Given the description of an element on the screen output the (x, y) to click on. 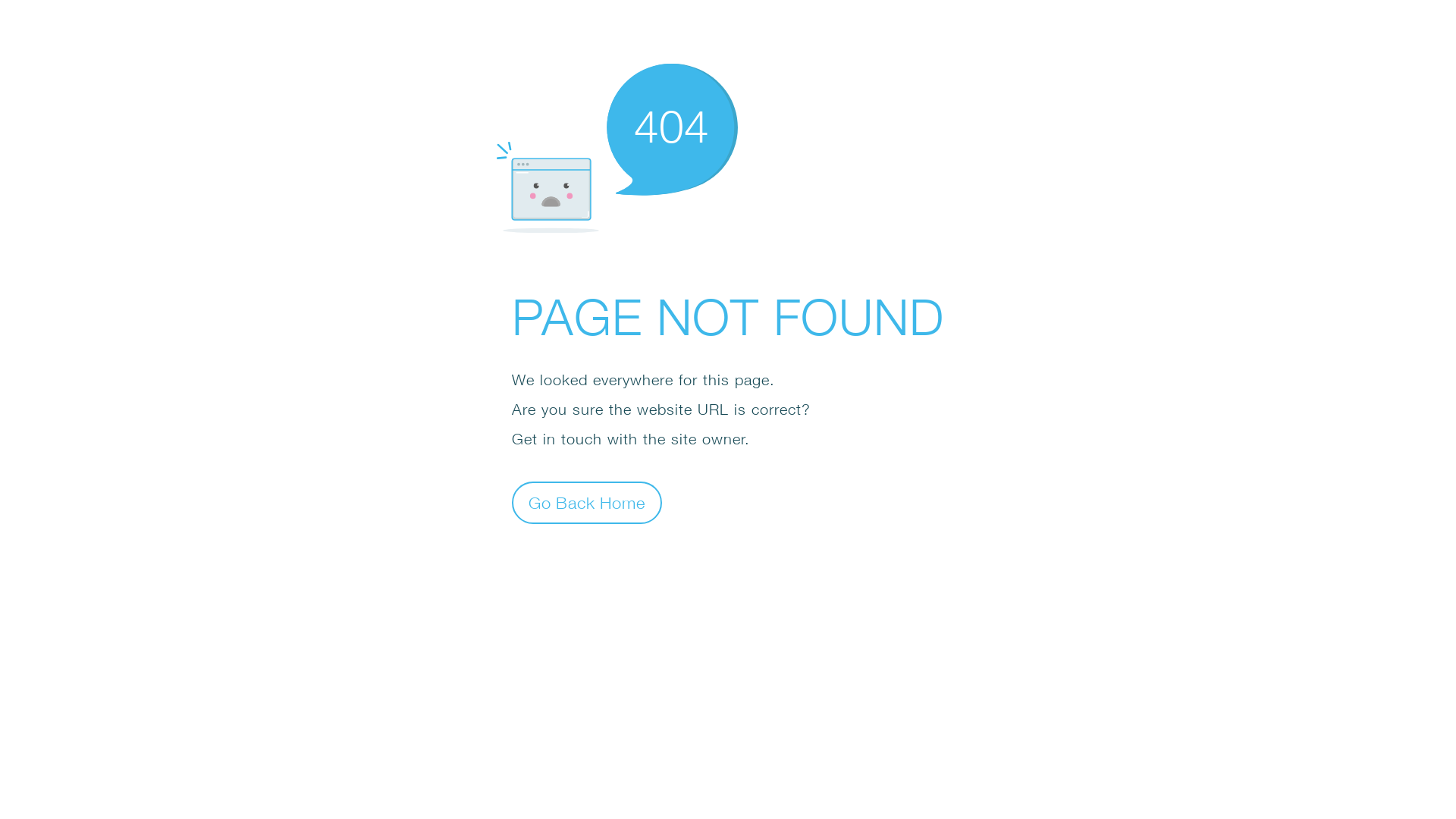
Go Back Home Element type: text (586, 502)
